Given the description of an element on the screen output the (x, y) to click on. 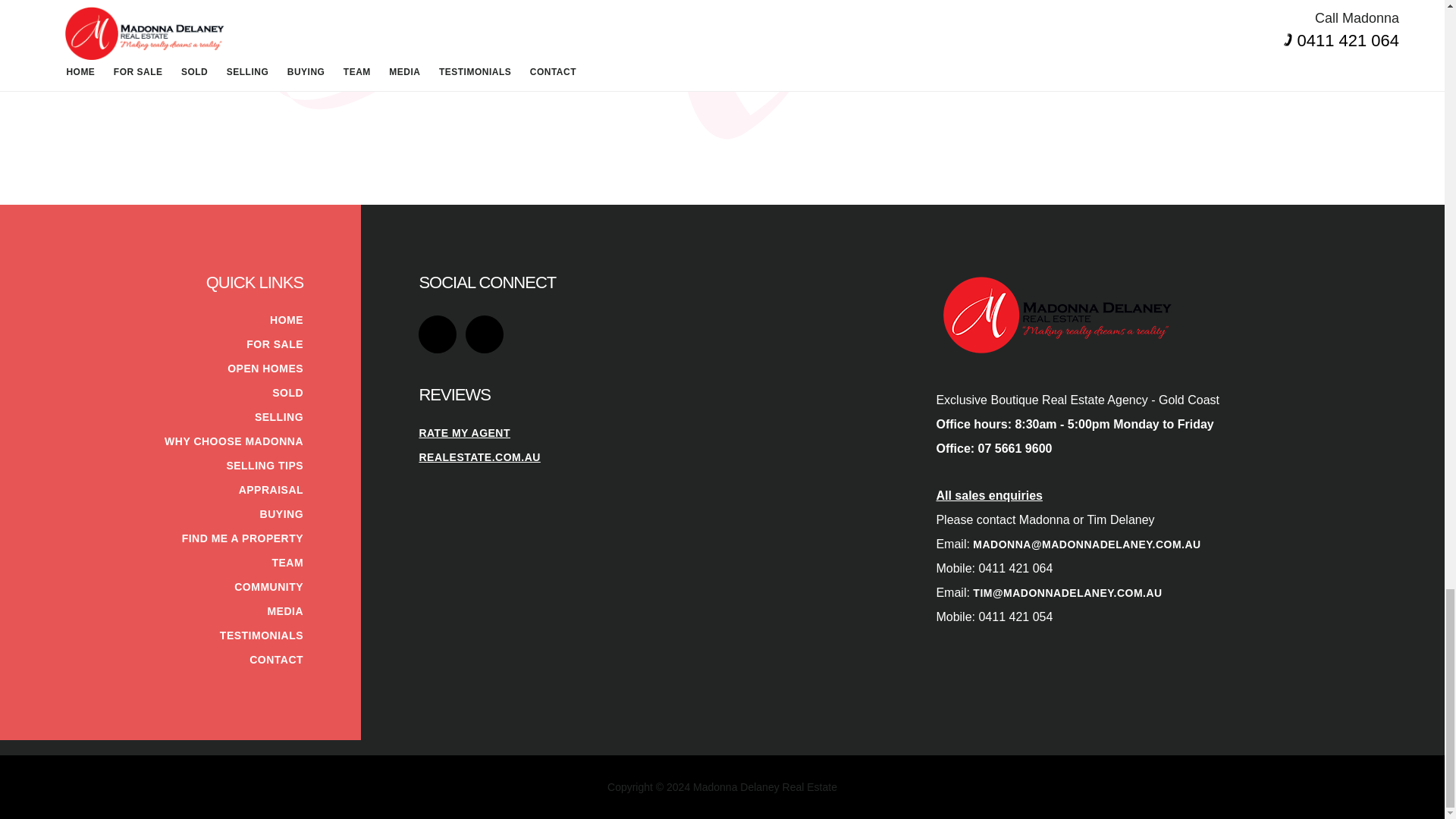
BUYING (281, 513)
OPEN HOMES (264, 368)
TEAM (286, 562)
FIND ME A PROPERTY (242, 538)
APPRAISAL (270, 490)
COMMUNITY (268, 586)
WHY CHOOSE MADONNA (233, 440)
SELLING (278, 417)
SELLING TIPS (263, 465)
HOME (285, 319)
SOLD (287, 392)
FOR SALE (274, 344)
